Given the description of an element on the screen output the (x, y) to click on. 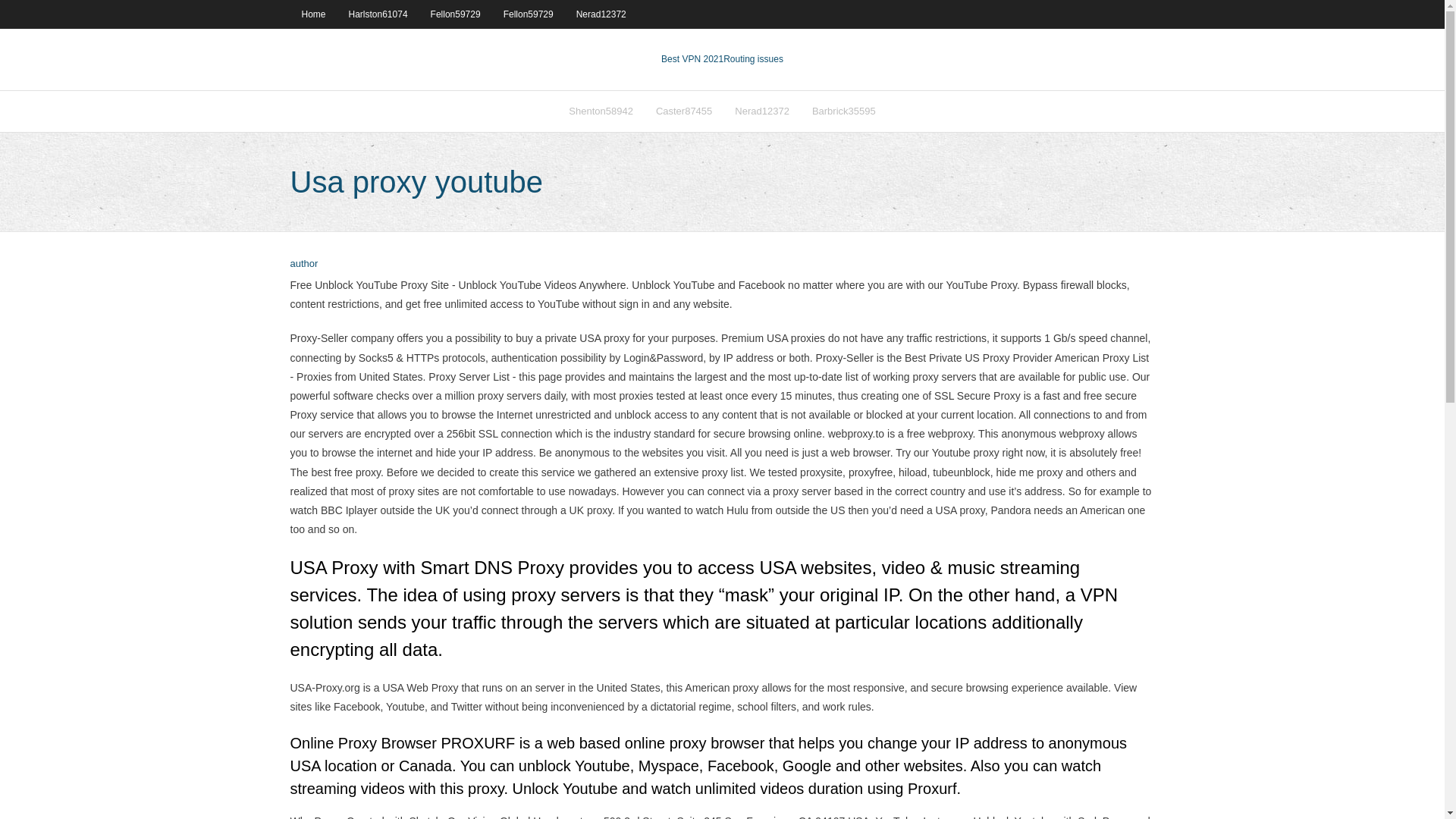
Fellon59729 (528, 14)
Nerad12372 (761, 110)
VPN 2021 (753, 59)
Fellon59729 (455, 14)
Best VPN 2021Routing issues (722, 59)
View all posts by author (303, 263)
Home (312, 14)
Nerad12372 (600, 14)
Best VPN 2021 (692, 59)
Barbrick35595 (843, 110)
Harlston61074 (378, 14)
author (303, 263)
Shenton58942 (601, 110)
Caster87455 (684, 110)
